Given the description of an element on the screen output the (x, y) to click on. 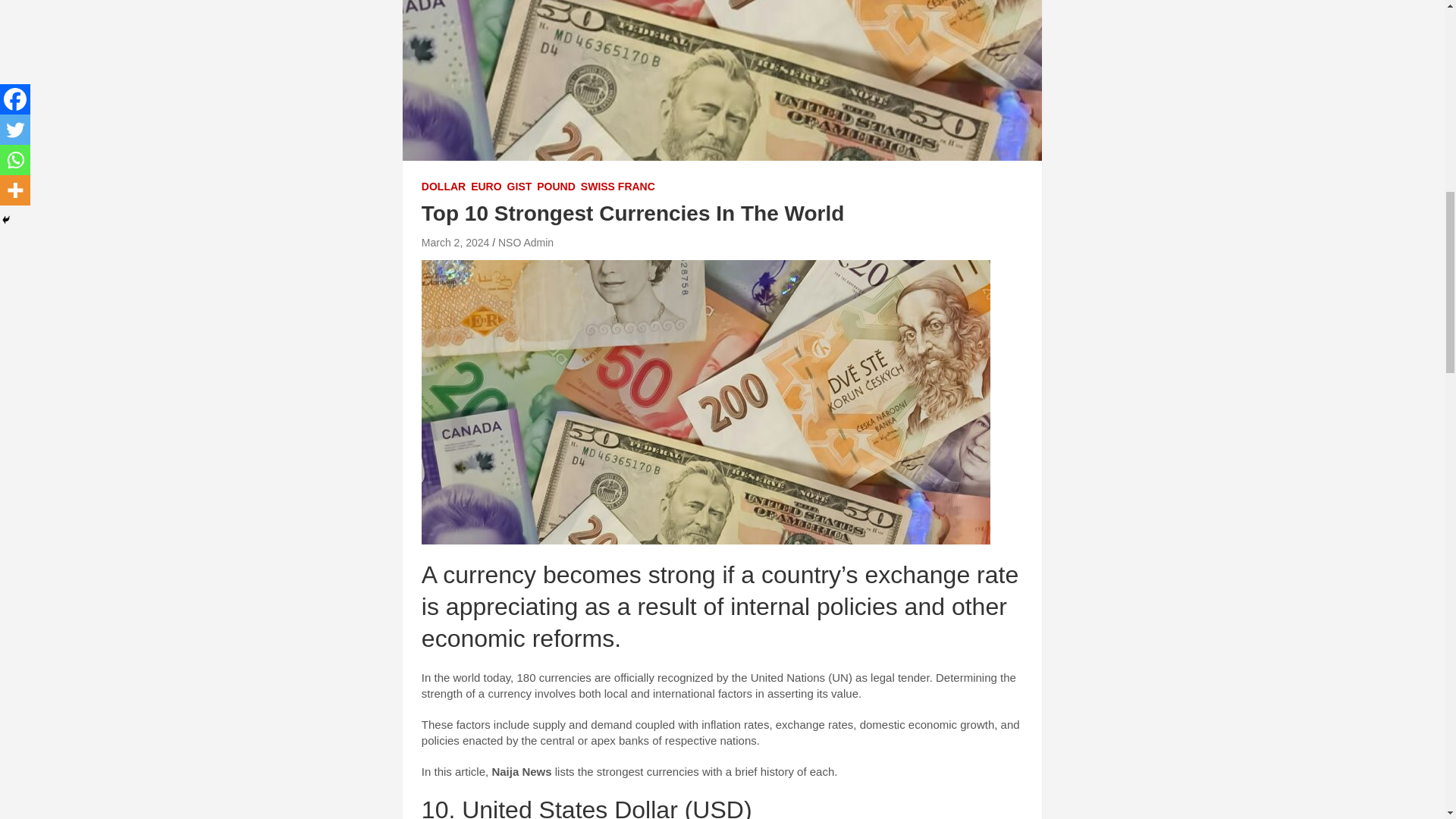
GIST (519, 186)
POUND (556, 186)
NSO Admin (525, 242)
March 2, 2024 (455, 242)
SWISS FRANC (617, 186)
Top 10 Strongest Currencies In The World (455, 242)
DOLLAR (443, 186)
EURO (485, 186)
